Given the description of an element on the screen output the (x, y) to click on. 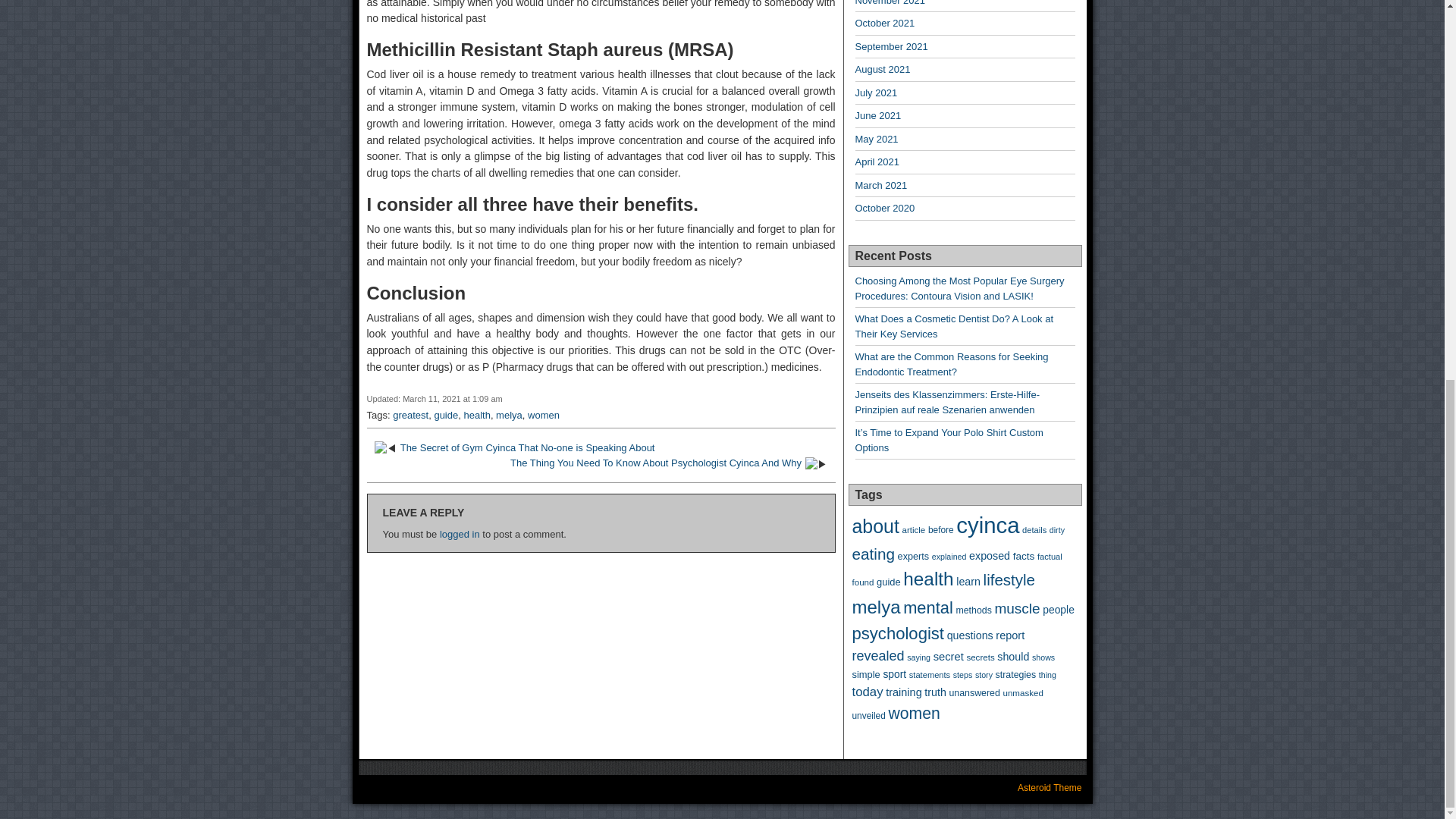
June 2021 (878, 115)
melya (509, 414)
health (476, 414)
November 2021 (891, 2)
logged in (459, 533)
The Thing You Need To Know About Psychologist Cyinca And Why (656, 462)
The Secret of Gym Cyinca That No-one is Speaking About (527, 447)
August 2021 (883, 69)
women (543, 414)
July 2021 (877, 92)
